Given the description of an element on the screen output the (x, y) to click on. 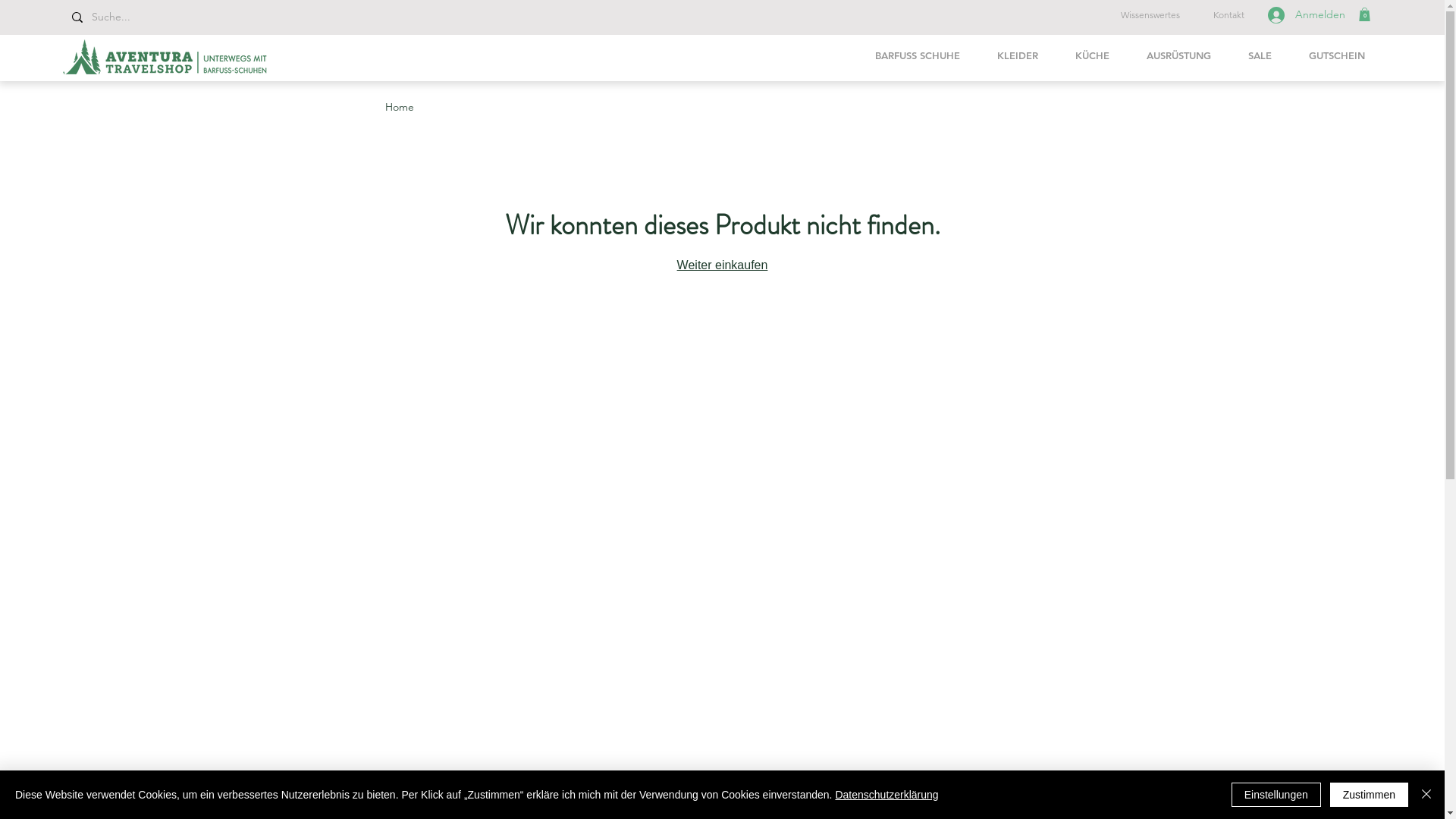
Kontakt Element type: text (1228, 14)
Weiter einkaufen Element type: text (722, 264)
Wissenswertes Element type: text (1149, 14)
KLEIDER Element type: text (1017, 55)
0 Element type: text (1364, 14)
GUTSCHEIN Element type: text (1336, 55)
Home Element type: text (399, 106)
Anmelden Element type: text (1306, 15)
BARFUSS SCHUHE Element type: text (917, 55)
SALE Element type: text (1259, 55)
